Given the description of an element on the screen output the (x, y) to click on. 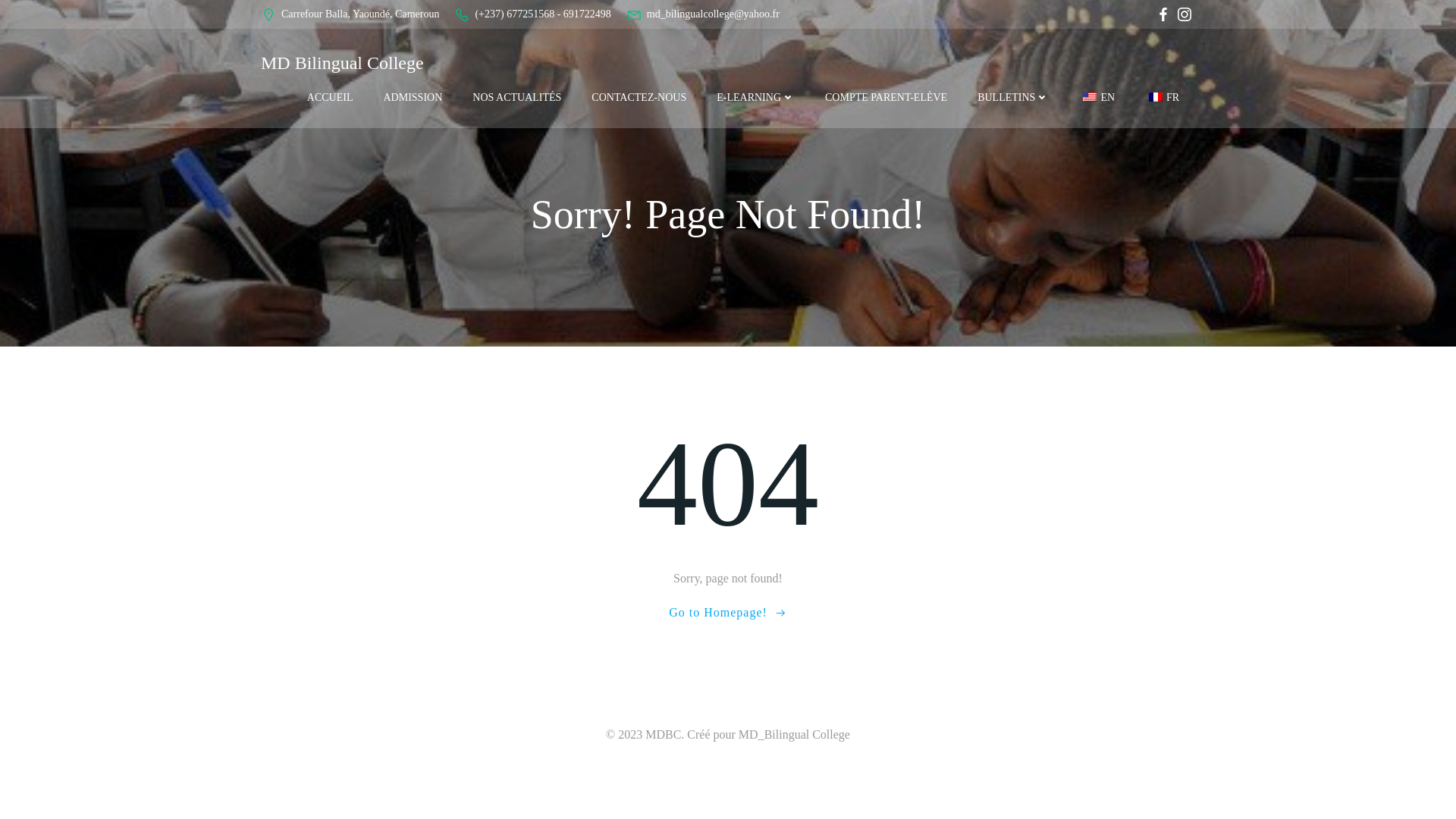
E-LEARNING (755, 97)
MD Bilingual College (341, 62)
BULLETINS (1012, 97)
CONTACTEZ-NOUS (638, 97)
ADMISSION (413, 97)
English (1089, 96)
French (1154, 96)
ACCUEIL (330, 97)
